Given the description of an element on the screen output the (x, y) to click on. 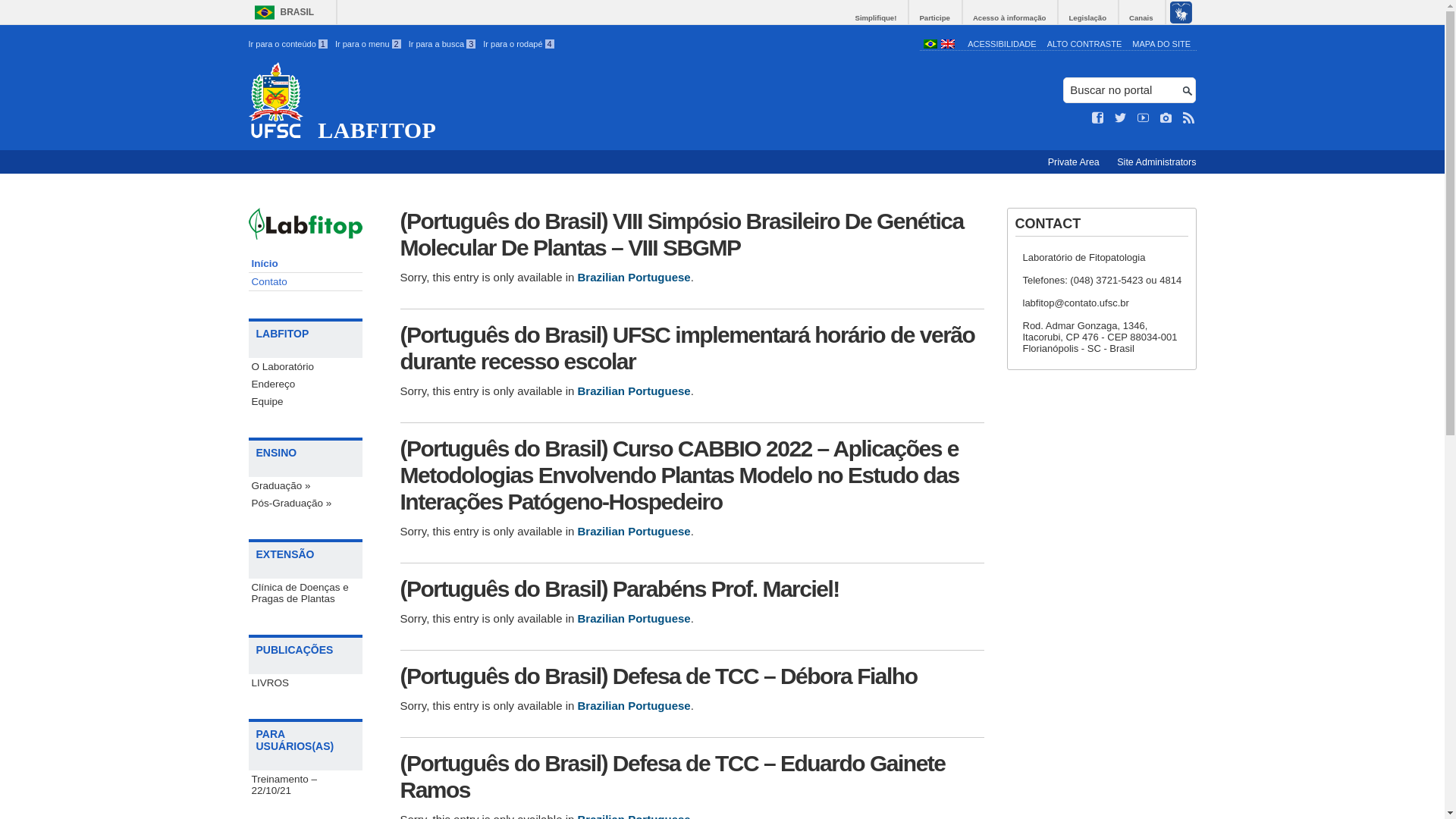
Participe Element type: text (935, 18)
MAPA DO SITE Element type: text (1161, 43)
ACESSIBILIDADE Element type: text (1001, 43)
BRASIL Element type: text (280, 12)
English (en) Element type: hover (946, 45)
Brazilian Portuguese Element type: text (633, 530)
Canais Element type: text (1141, 18)
Curta no Facebook Element type: hover (1098, 118)
Ir para o menu 2 Element type: text (368, 43)
Ir para a busca 3 Element type: text (442, 43)
Brazilian Portuguese Element type: text (633, 390)
Brazilian Portuguese Element type: text (633, 617)
Siga no Twitter Element type: hover (1120, 118)
ALTO CONTRASTE Element type: text (1084, 43)
LABFITOP Element type: text (580, 102)
Site Administrators Element type: text (1156, 161)
Simplifique! Element type: text (875, 18)
Private Area Element type: text (1075, 161)
Contato Element type: text (305, 282)
LIVROS Element type: text (305, 682)
Veja no Instagram Element type: hover (1166, 118)
Brazilian Portuguese Element type: text (633, 276)
Brazilian Portuguese Element type: text (633, 705)
Equipe Element type: text (305, 401)
